Given the description of an element on the screen output the (x, y) to click on. 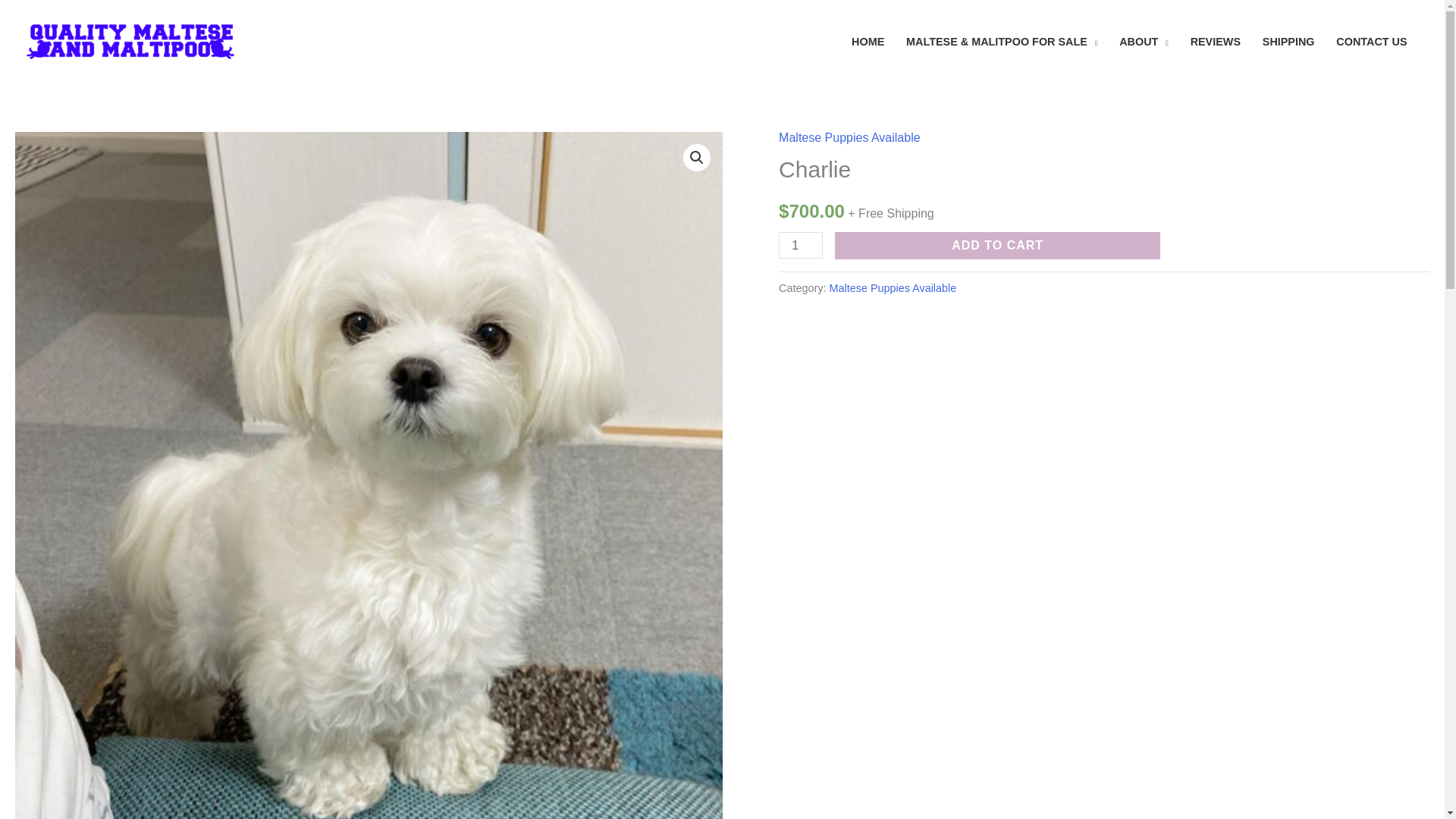
Maltese Puppies Available (849, 137)
REVIEWS (1214, 41)
ADD TO CART (997, 245)
HOME (868, 41)
1 (800, 244)
SHIPPING (1287, 41)
CONTACT US (1371, 41)
ABOUT (1143, 41)
Maltese Puppies Available (892, 287)
